Given the description of an element on the screen output the (x, y) to click on. 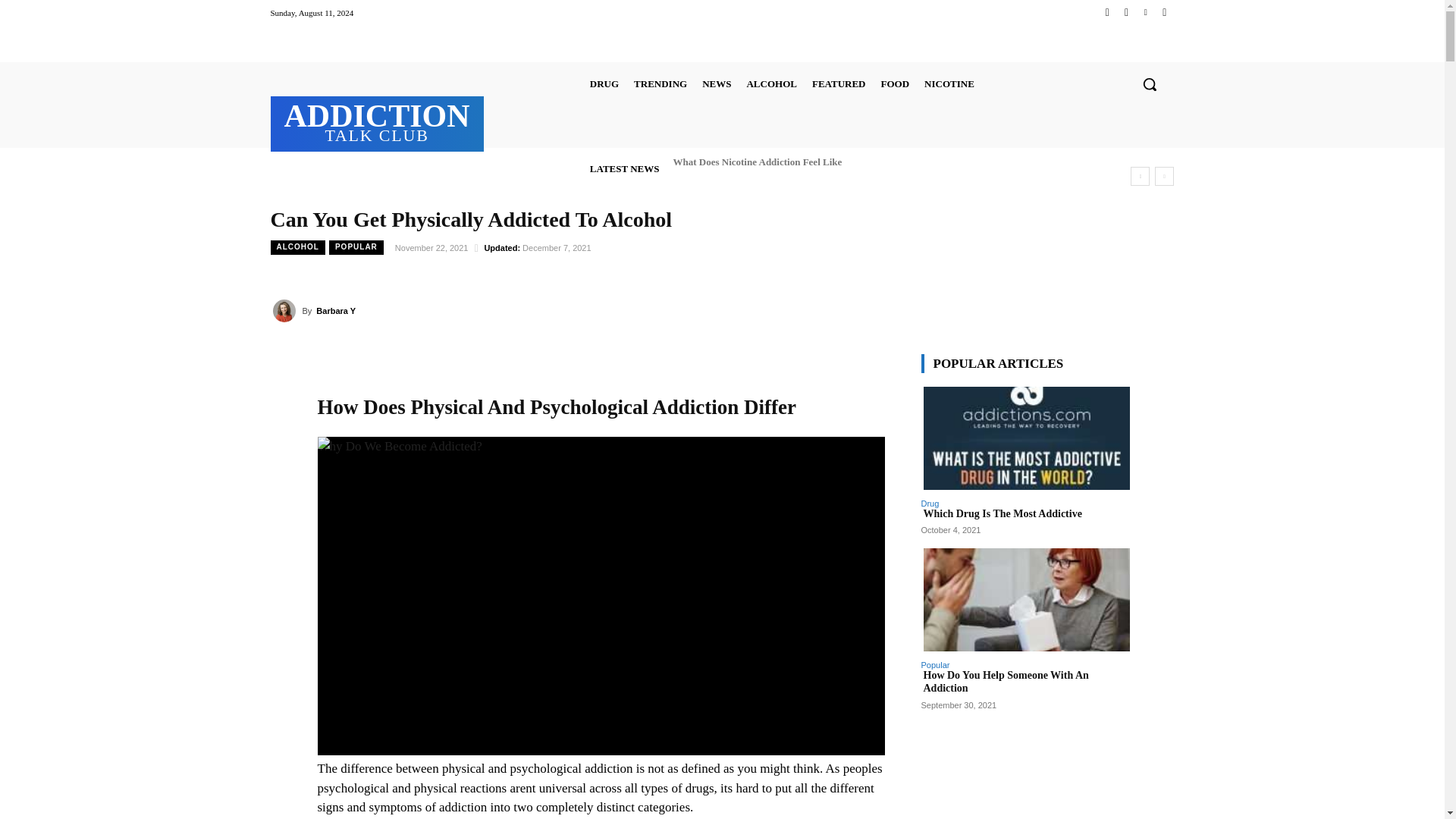
DRUG (376, 121)
Facebook (603, 83)
TRENDING (1106, 12)
